Given the description of an element on the screen output the (x, y) to click on. 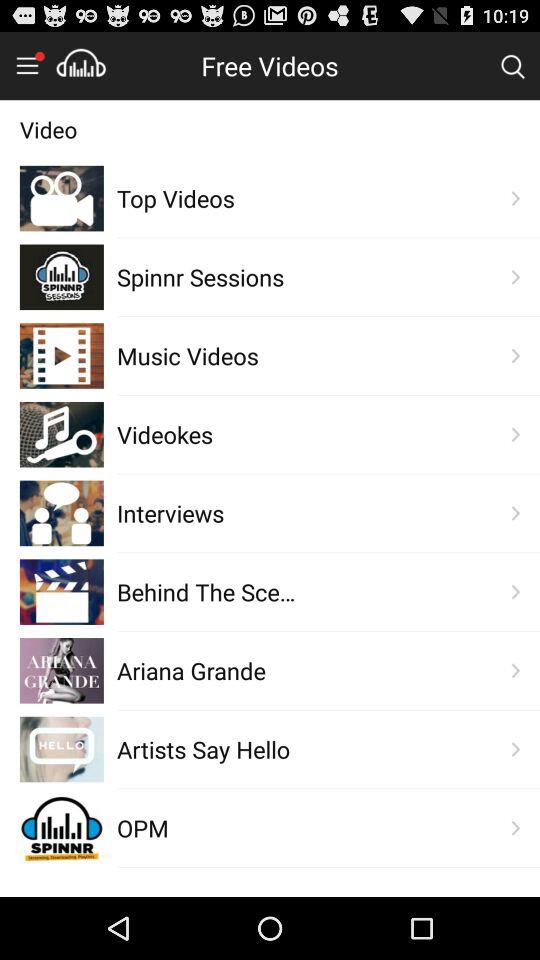
search bar (512, 65)
